Given the description of an element on the screen output the (x, y) to click on. 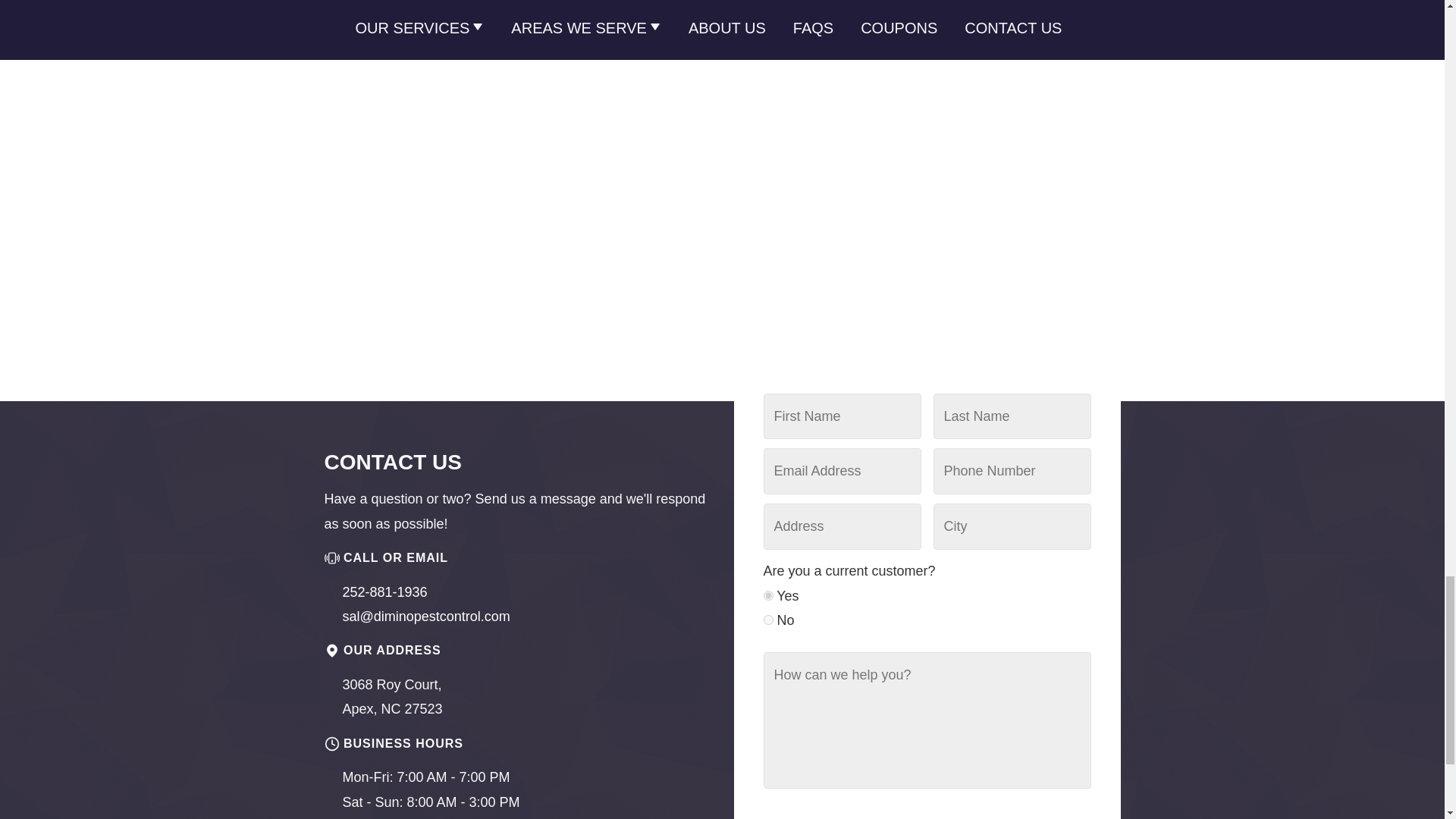
OUR SERVICES (419, 27)
Yes (767, 595)
No (767, 619)
